Given the description of an element on the screen output the (x, y) to click on. 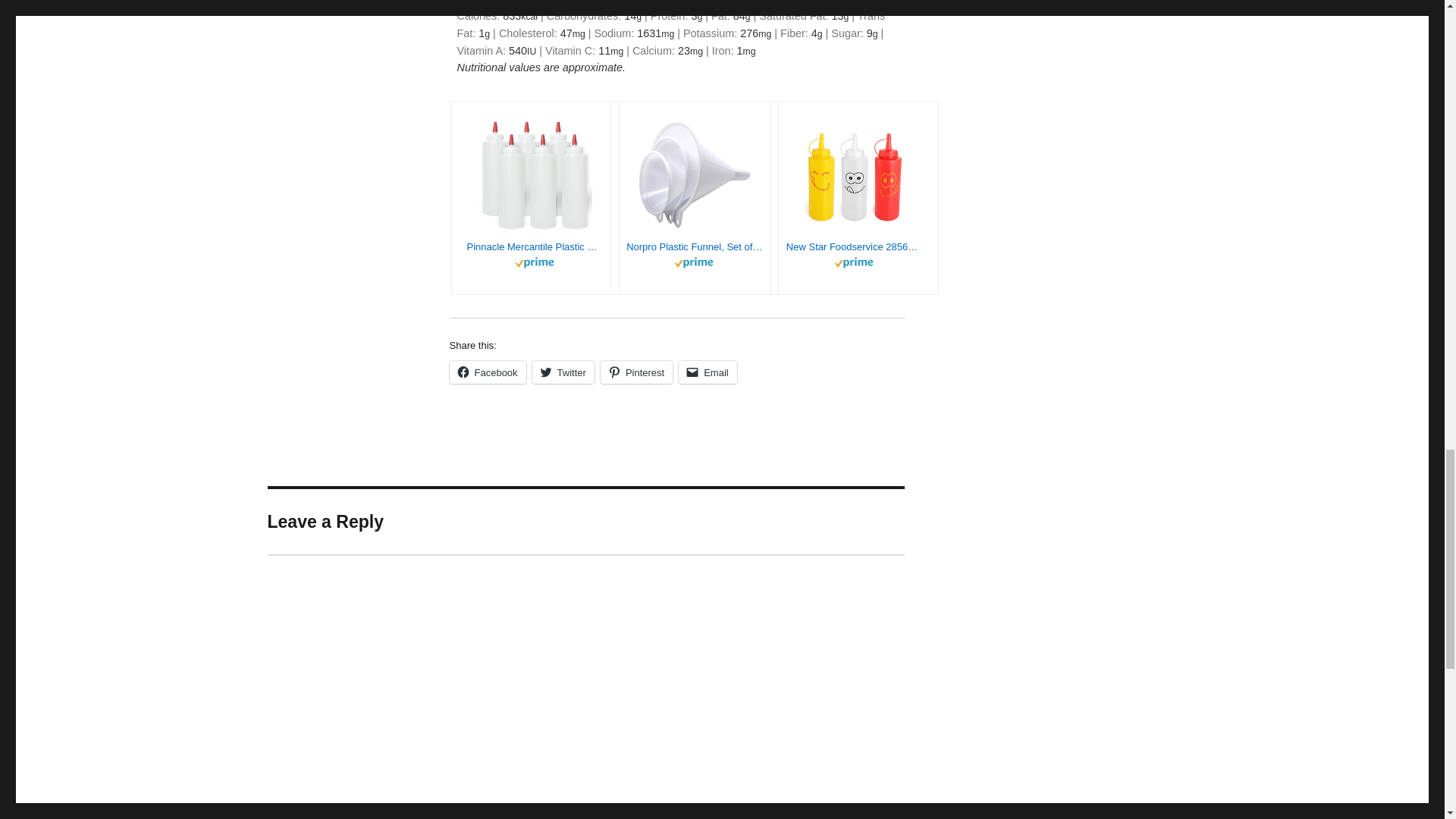
Click to email a link to a friend (707, 372)
Click to share on Pinterest (635, 372)
Norpro Plastic Funnel, Set of 3, Set of Three, White (694, 246)
Click to share on Facebook (486, 372)
Click to share on Twitter (563, 372)
